Given the description of an element on the screen output the (x, y) to click on. 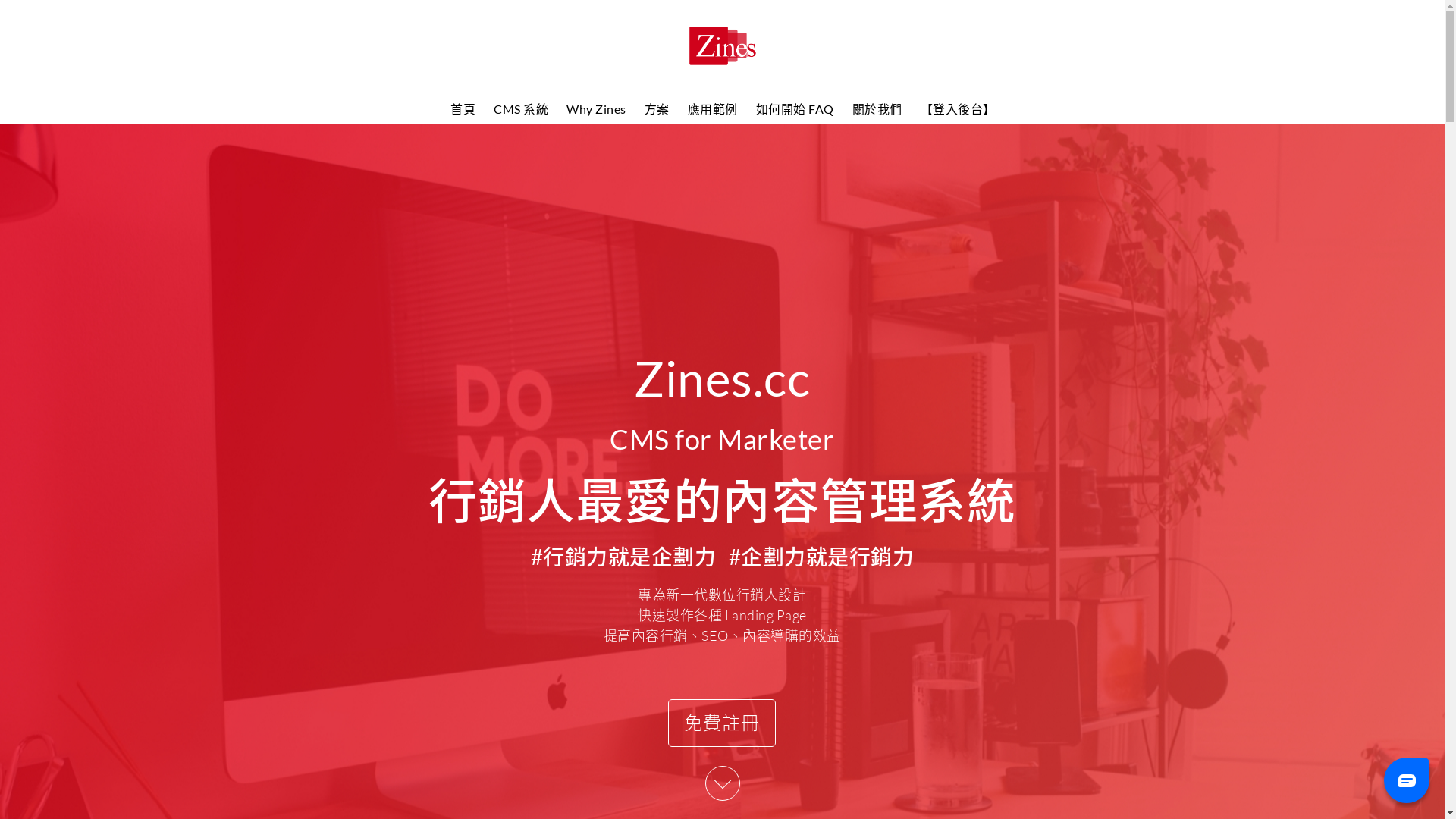
Chat Element type: hover (1406, 778)
Why Zines Element type: text (596, 108)
